Given the description of an element on the screen output the (x, y) to click on. 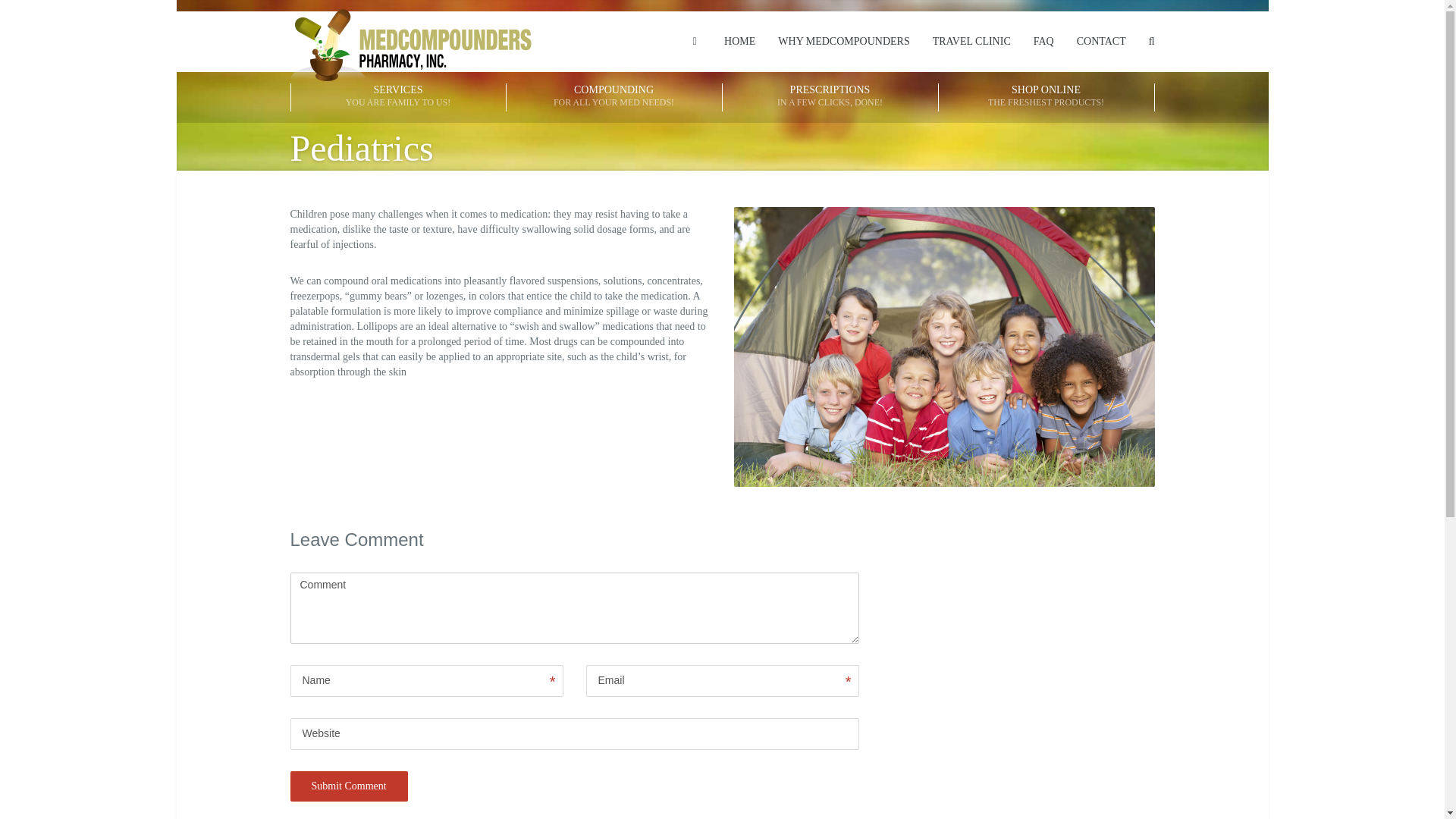
Submit Comment (397, 97)
WHY MEDCOMPOUNDERS (348, 786)
Compounding (829, 97)
Submit Comment (1046, 97)
TRAVEL CLINIC (842, 41)
Prescriptions (614, 97)
